Given the description of an element on the screen output the (x, y) to click on. 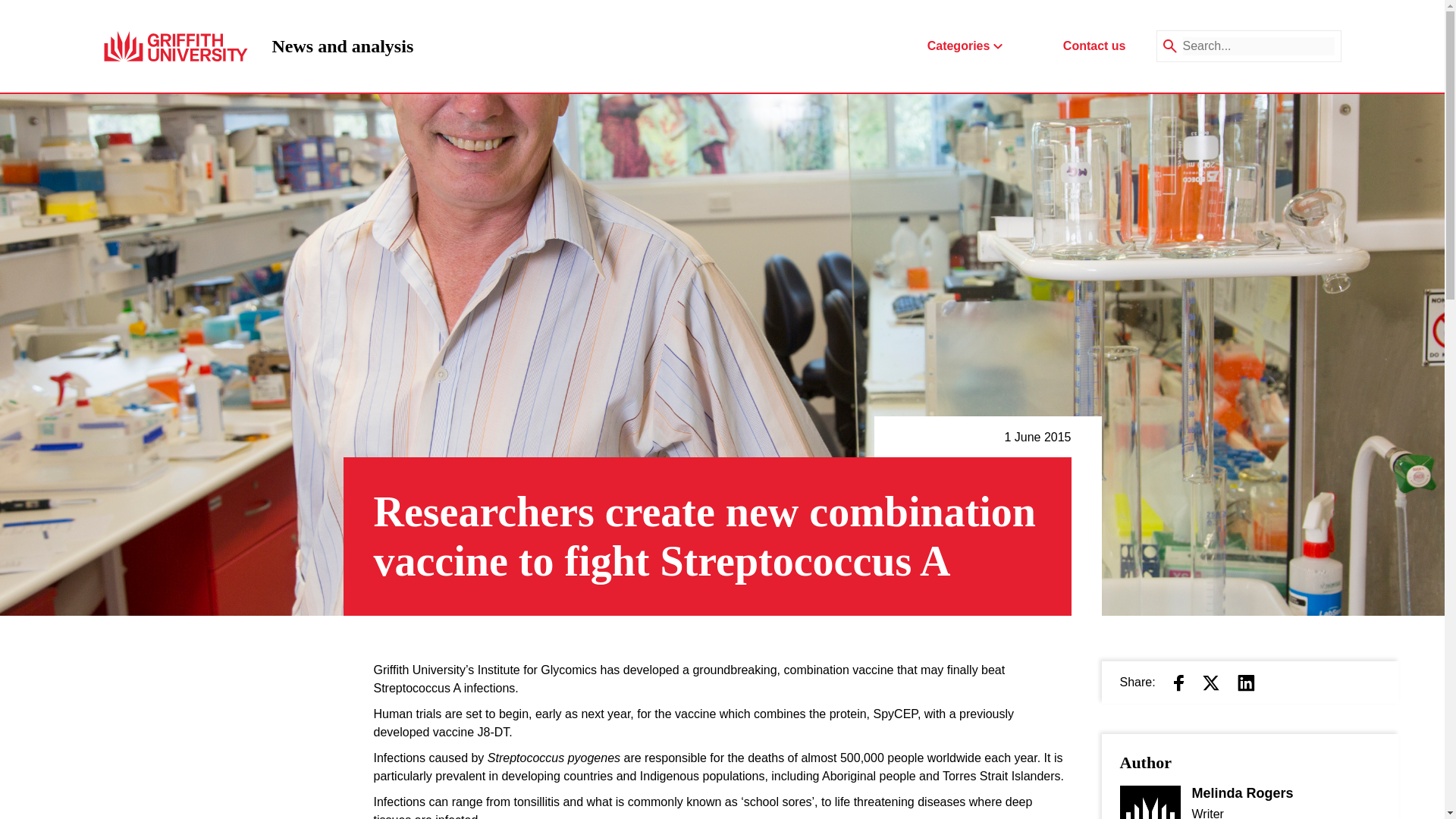
Contact us (341, 46)
